Given the description of an element on the screen output the (x, y) to click on. 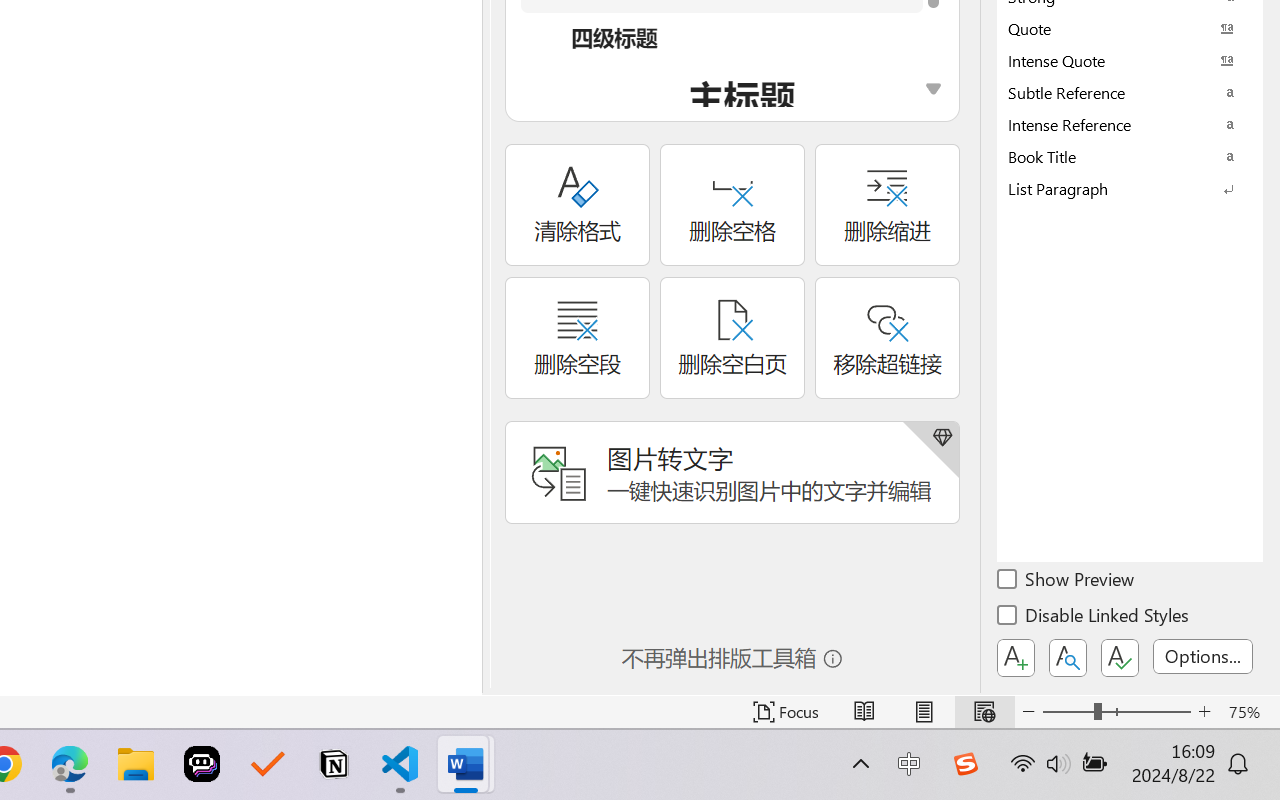
Subtle Reference (1130, 92)
List Paragraph (1130, 188)
Print Layout (924, 712)
Disable Linked Styles (1094, 618)
